Given the description of an element on the screen output the (x, y) to click on. 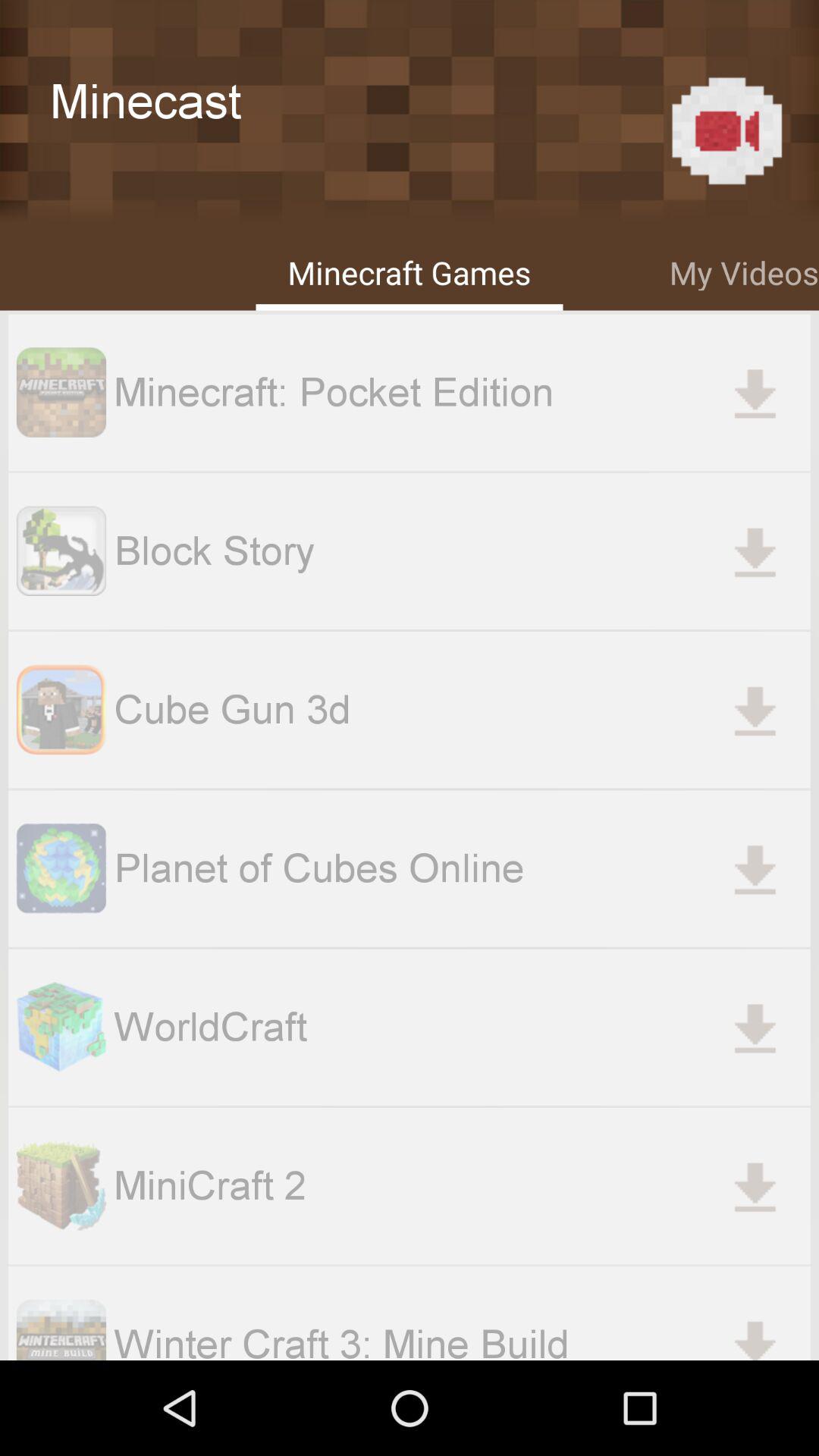
turn off the planet of cubes (462, 868)
